Given the description of an element on the screen output the (x, y) to click on. 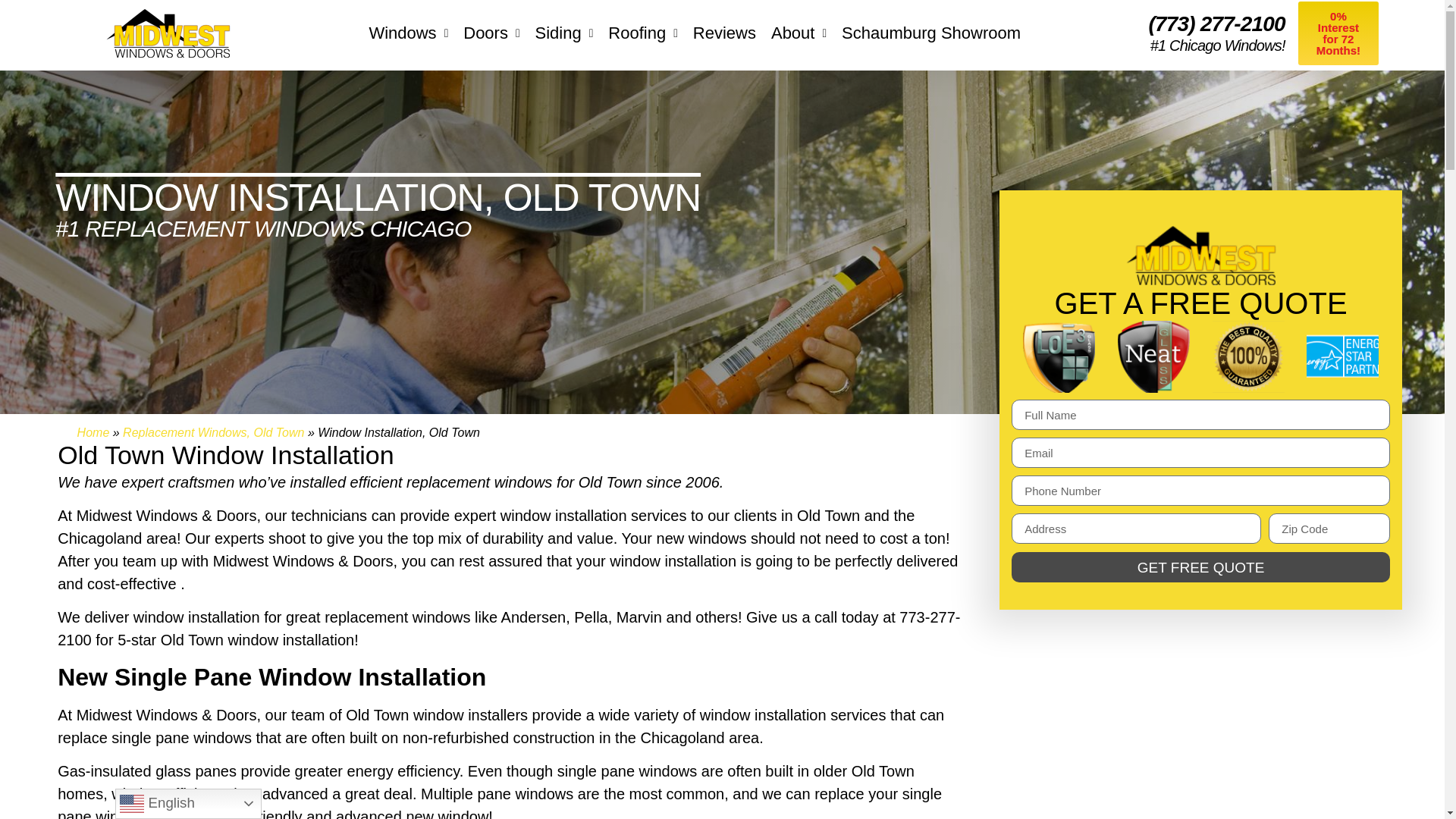
Doors (491, 32)
Windows (408, 32)
Roofing (641, 32)
Siding (564, 32)
